Given the description of an element on the screen output the (x, y) to click on. 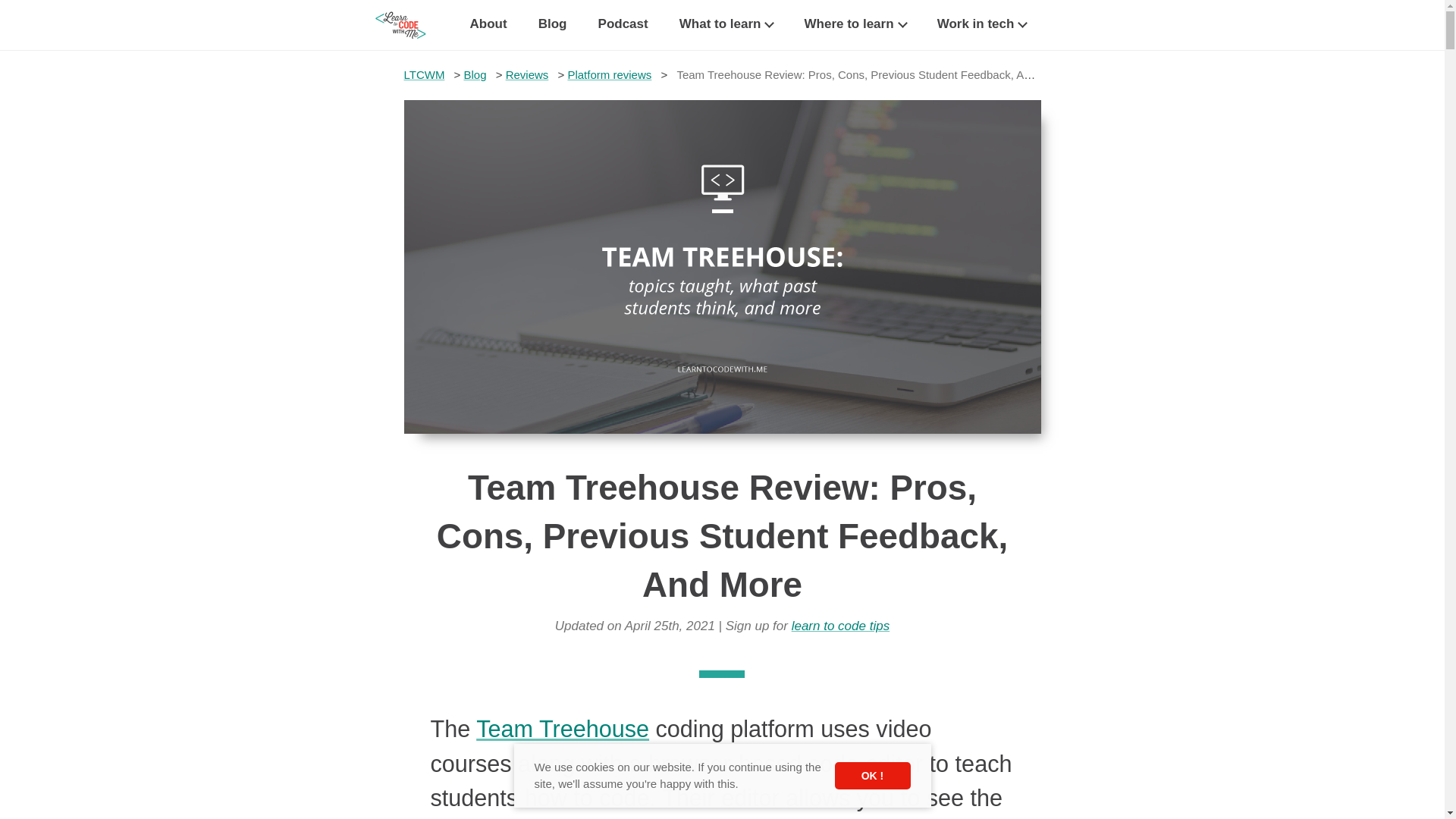
Podcast (622, 25)
What to learn (726, 25)
Get Digital Skills, Be Happy (407, 24)
Team Treehouse - Homepage (562, 728)
Where to learn (854, 25)
About (488, 25)
Work in tech (981, 25)
Blog (552, 25)
